Given the description of an element on the screen output the (x, y) to click on. 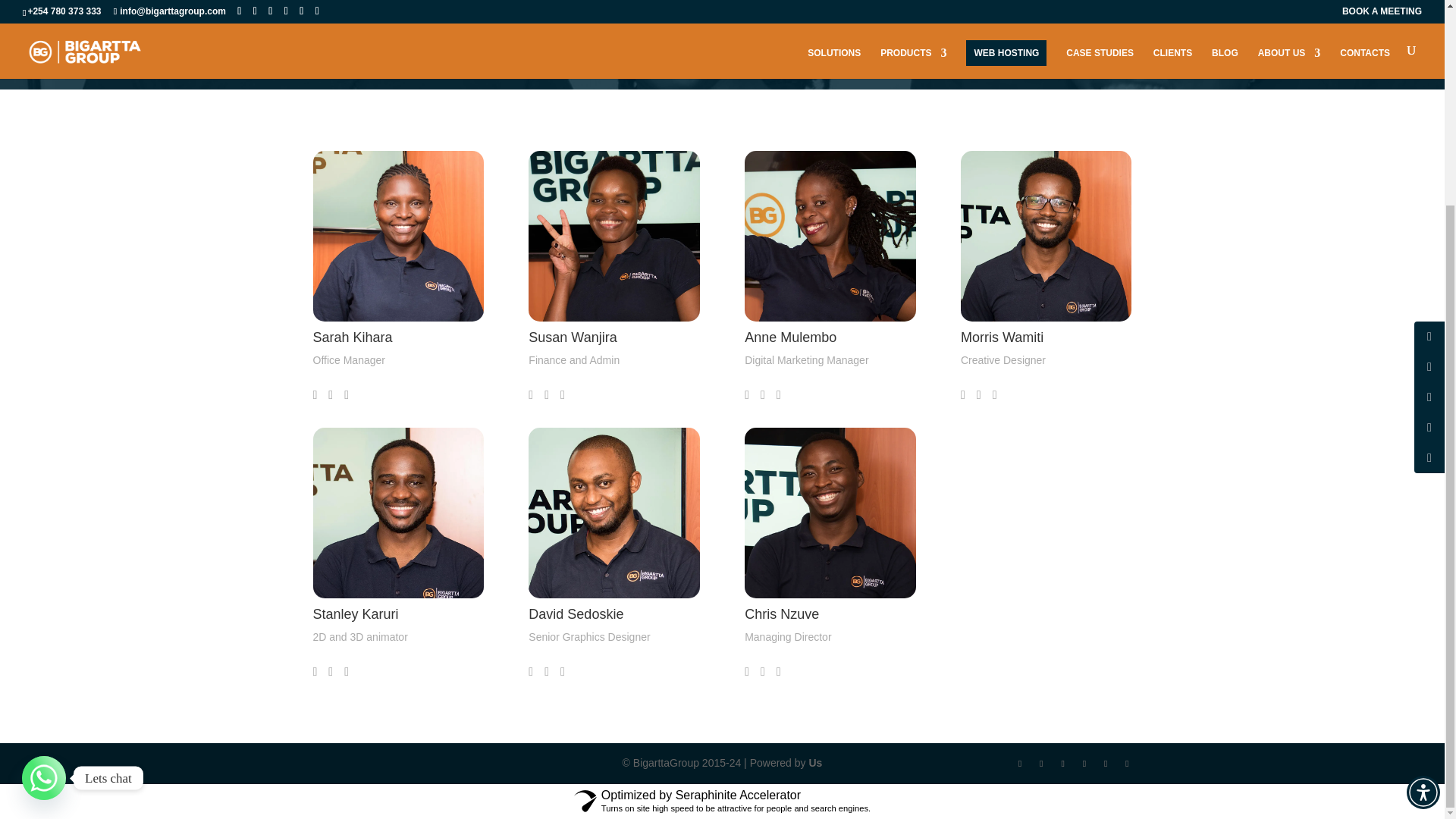
Accessibility Menu (1422, 528)
